Given the description of an element on the screen output the (x, y) to click on. 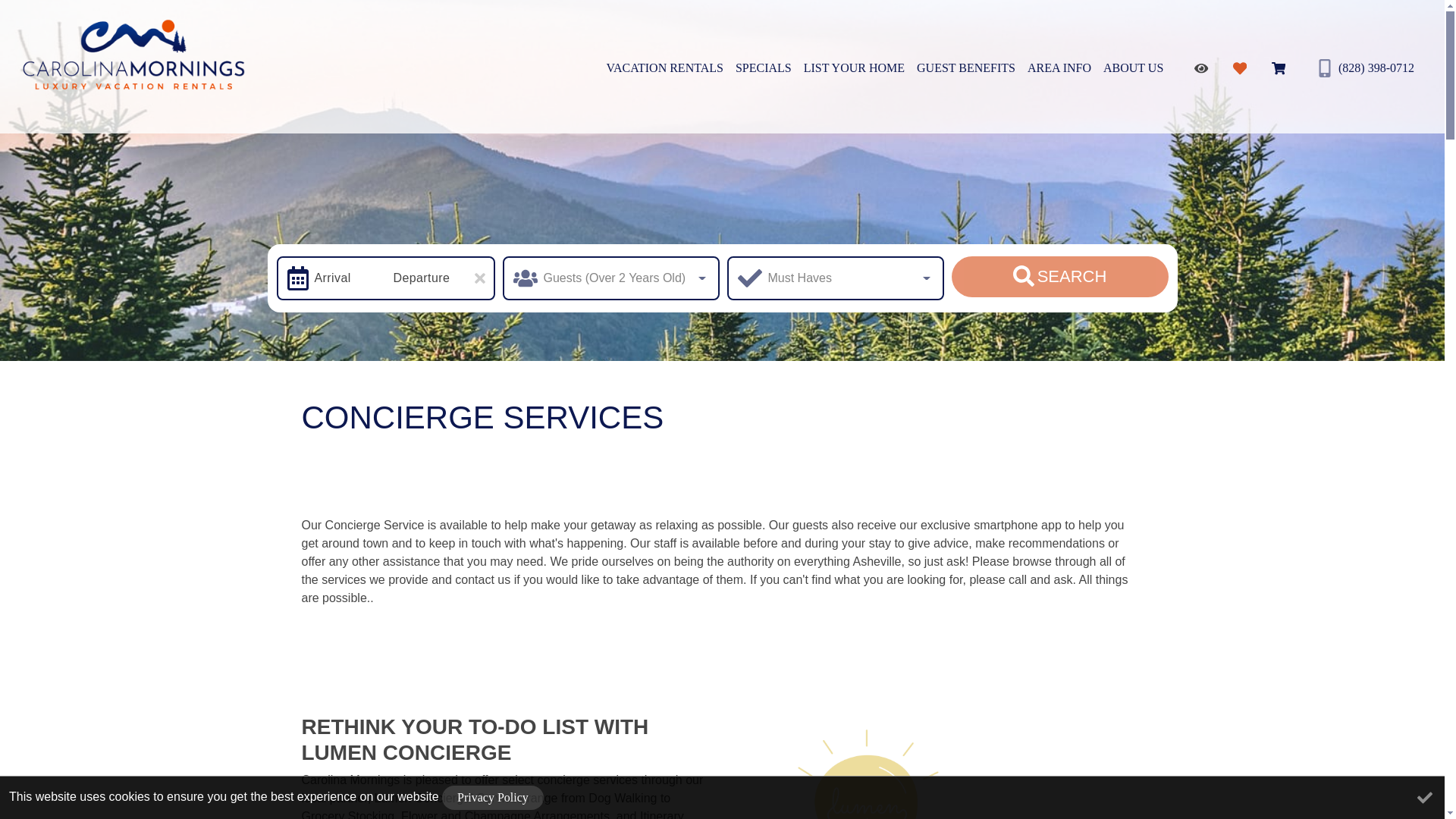
GUEST BENEFITS (966, 68)
Must Haves (835, 277)
Clear QS Datepicker (478, 278)
Acknowledge Cookie Checkmark (1424, 797)
SPECIALS (763, 68)
LIST YOUR HOME (854, 68)
VACATION RENTALS (664, 68)
AREA INFO (1059, 68)
